Given the description of an element on the screen output the (x, y) to click on. 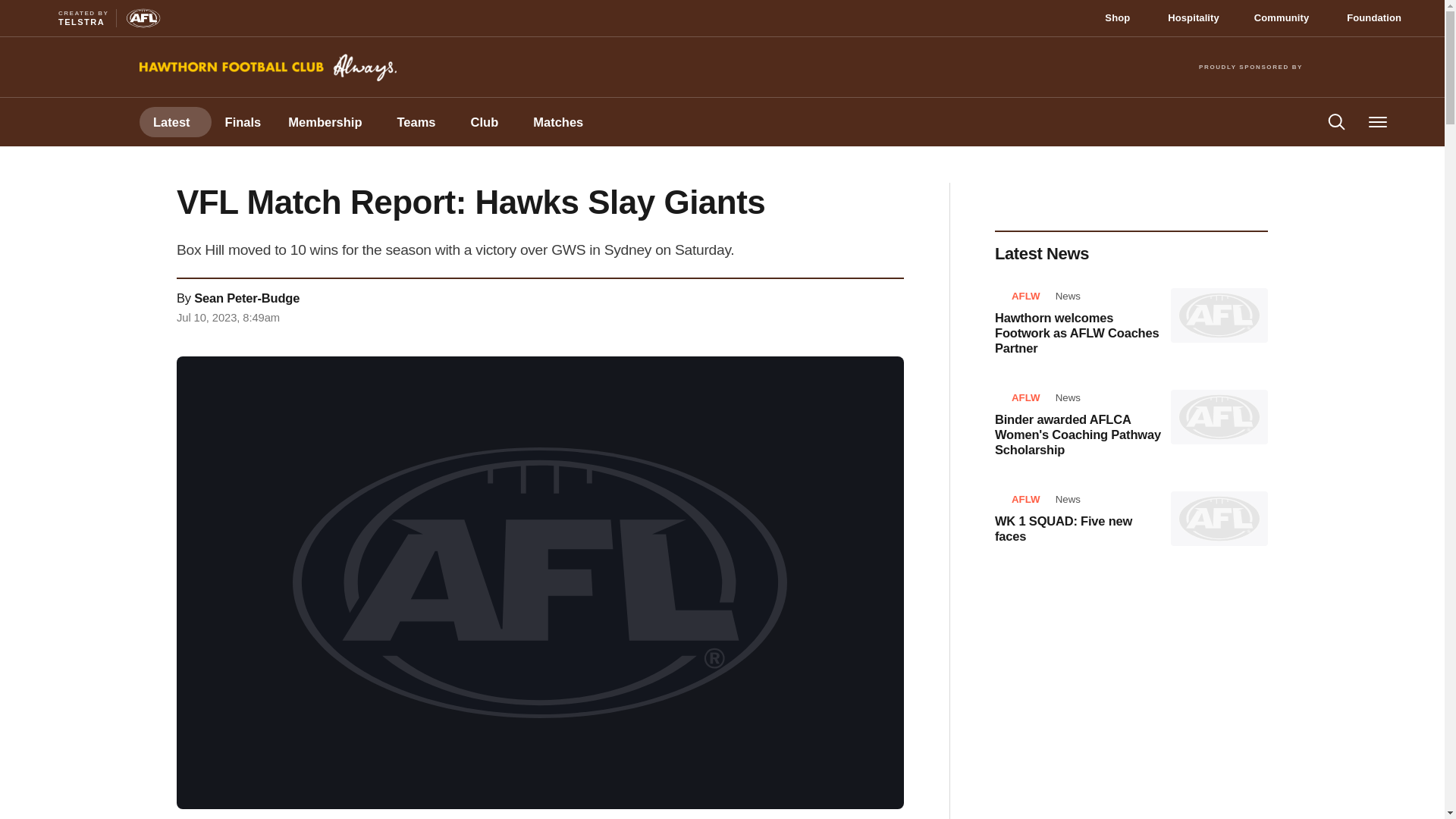
Finals (65, 18)
Club Logo (243, 122)
Finals (57, 121)
Membership (243, 122)
Community (328, 122)
Latest (1286, 17)
Foundation (175, 122)
Shop (1379, 17)
Foundation (1122, 17)
